Given the description of an element on the screen output the (x, y) to click on. 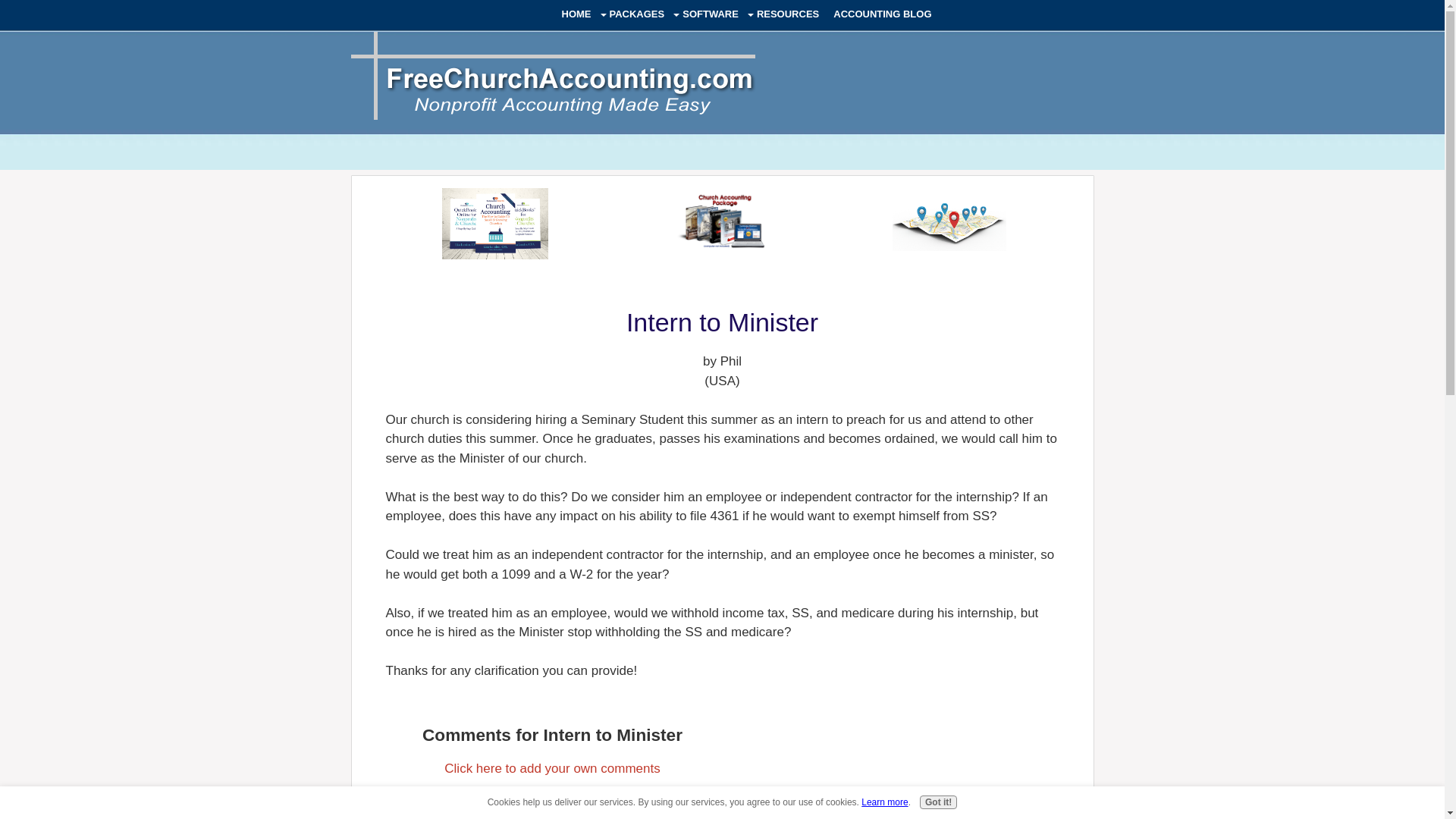
Go to Web Pages on FreeChurchAccounting (949, 246)
Go to Understanding Church Finances (495, 255)
Click here to add your own comments (551, 768)
Go to Church Accounting Package (721, 253)
ACCOUNTING BLOG (883, 13)
HOME (576, 13)
